Given the description of an element on the screen output the (x, y) to click on. 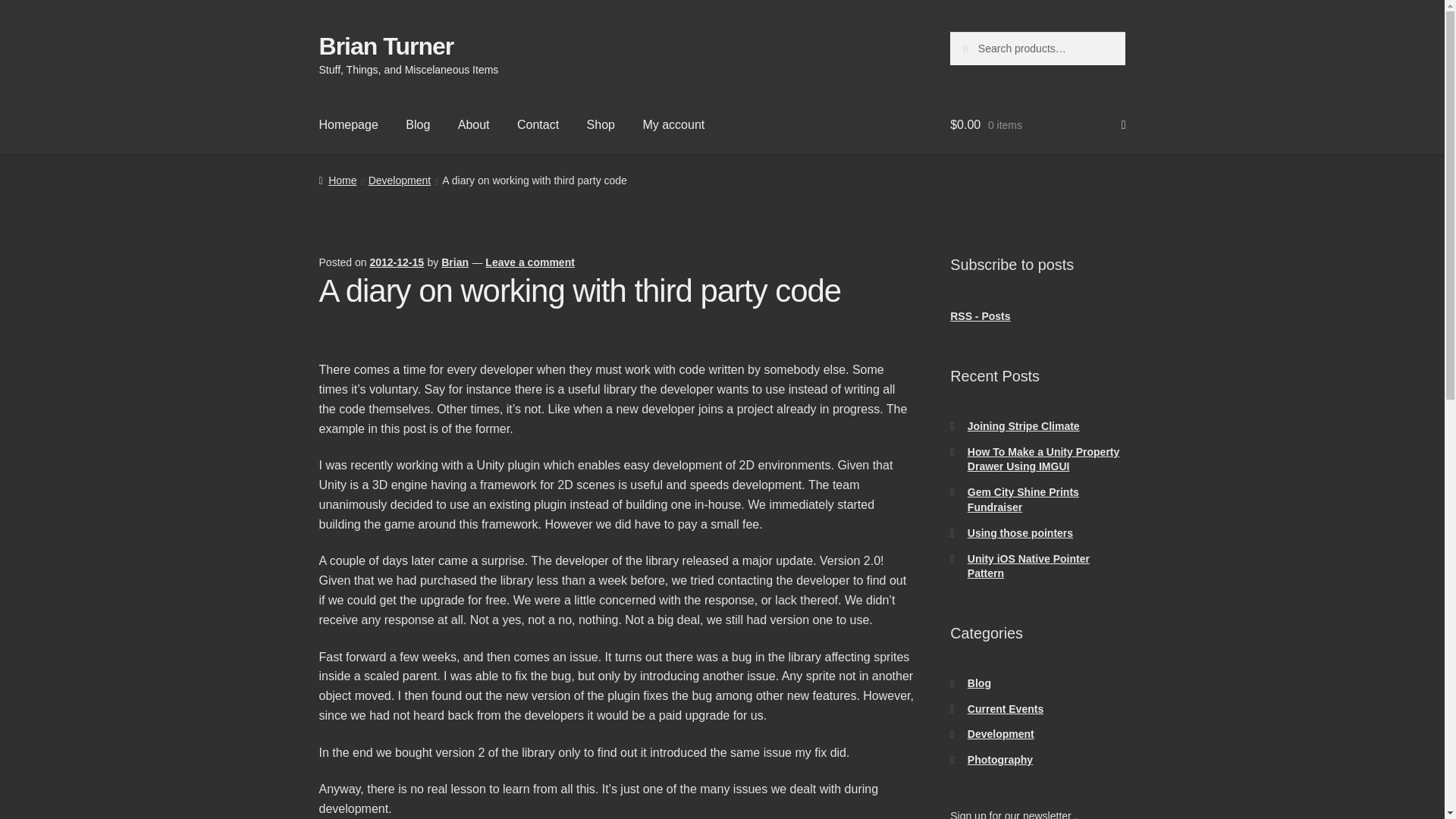
Brian Turner (386, 45)
2012-12-15 (396, 262)
Brian (454, 262)
Development (399, 180)
How To Make a Unity Property Drawer Using IMGUI (1043, 459)
Joining Stripe Climate (1024, 426)
Home (337, 180)
Homepage (348, 124)
Development (1000, 734)
Photography (1000, 759)
